Given the description of an element on the screen output the (x, y) to click on. 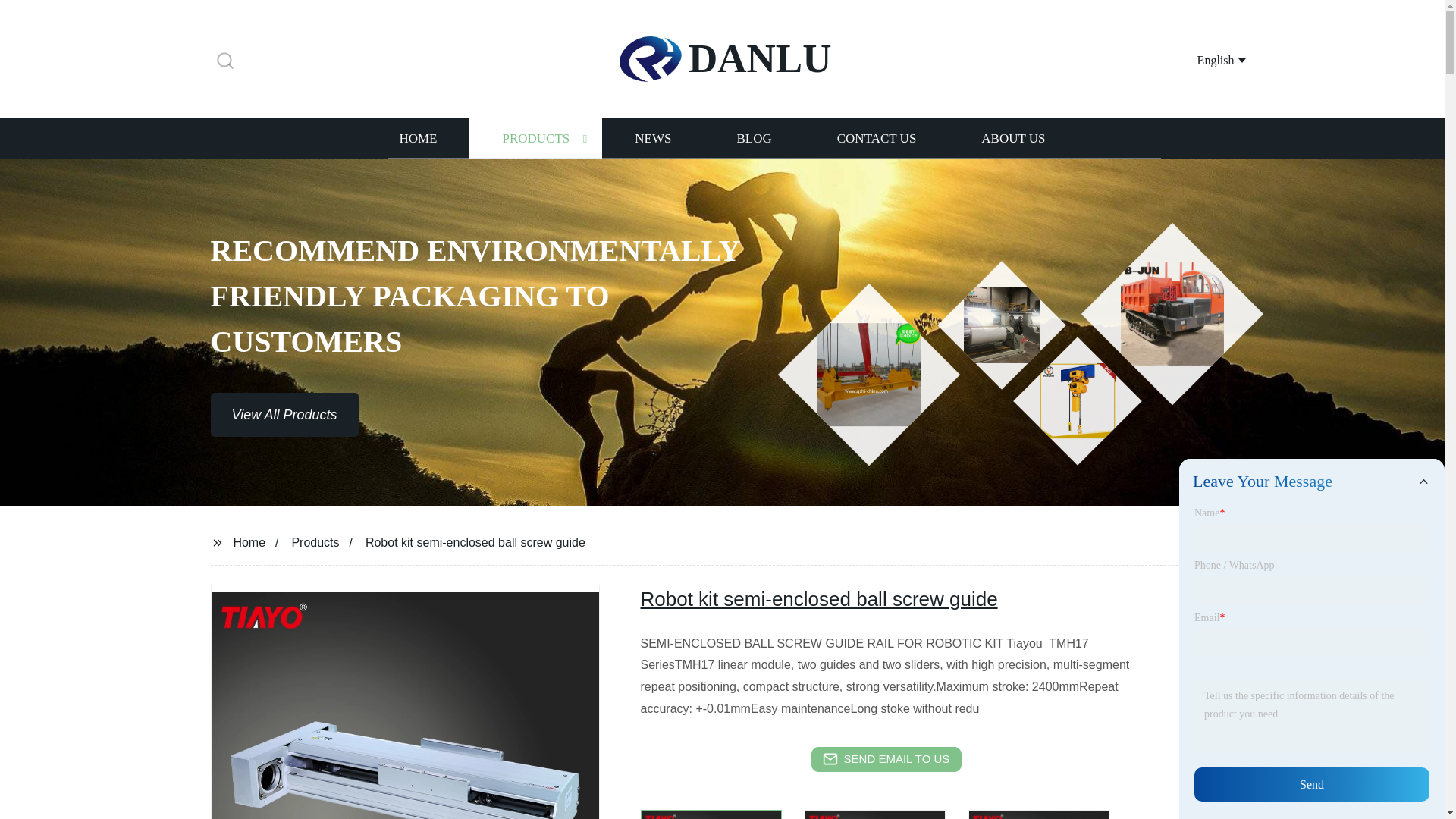
CONTACT US (877, 137)
BLOG (753, 137)
PRODUCTS (535, 137)
Products (315, 541)
English (1203, 59)
ABOUT US (1013, 137)
NEWS (652, 137)
Home (248, 541)
Top (1404, 779)
English (1203, 59)
SEND EMAIL TO US (885, 759)
HOME (417, 137)
